Given the description of an element on the screen output the (x, y) to click on. 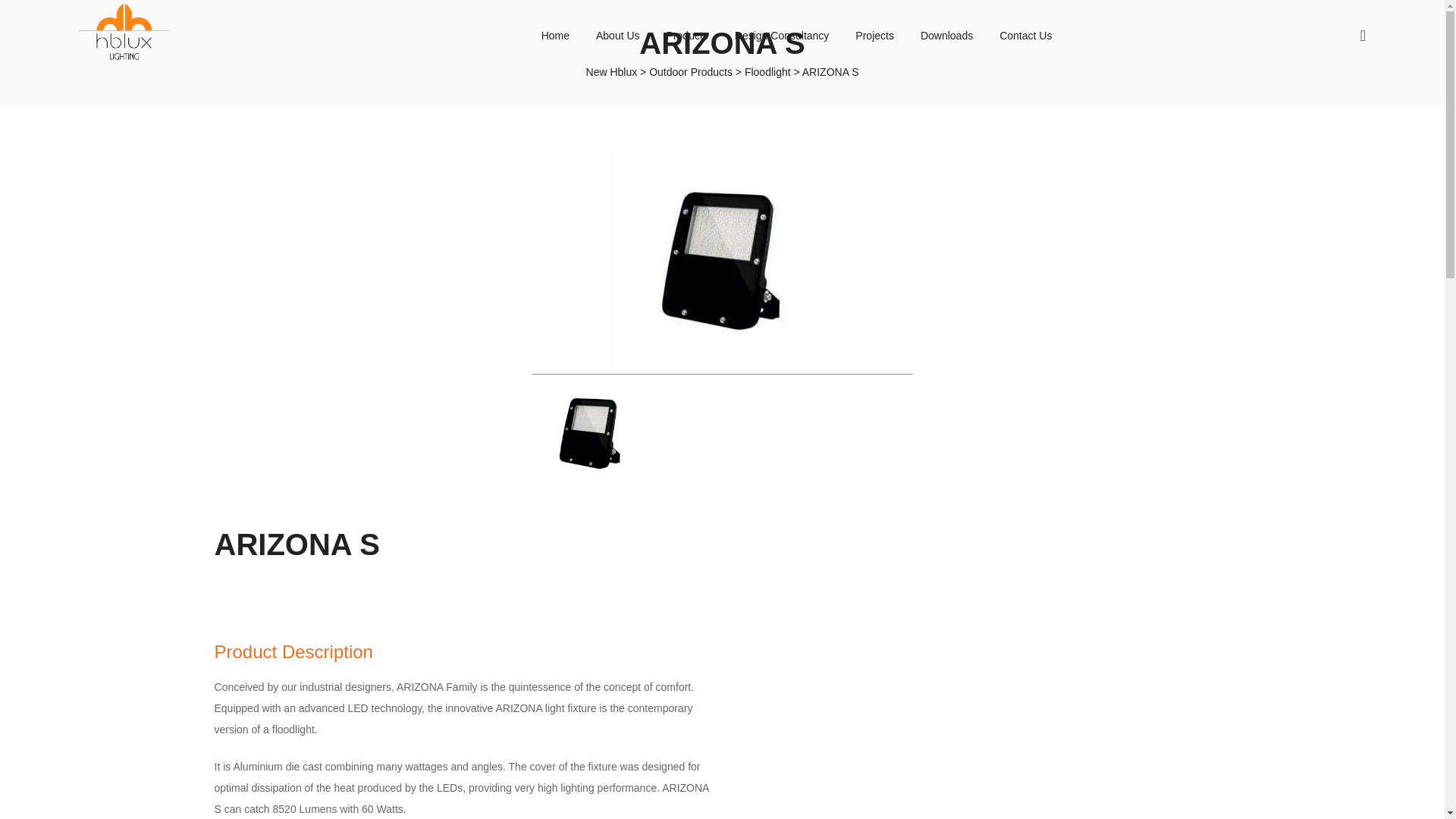
Go to New Hblux. (611, 70)
Contact Us (1025, 35)
Home (555, 35)
Floodlight (767, 70)
Projects (874, 35)
Products (687, 35)
New Hblux (611, 70)
Go to Outdoor Products. (690, 70)
Downloads (945, 35)
Design Consultancy (781, 35)
